Given the description of an element on the screen output the (x, y) to click on. 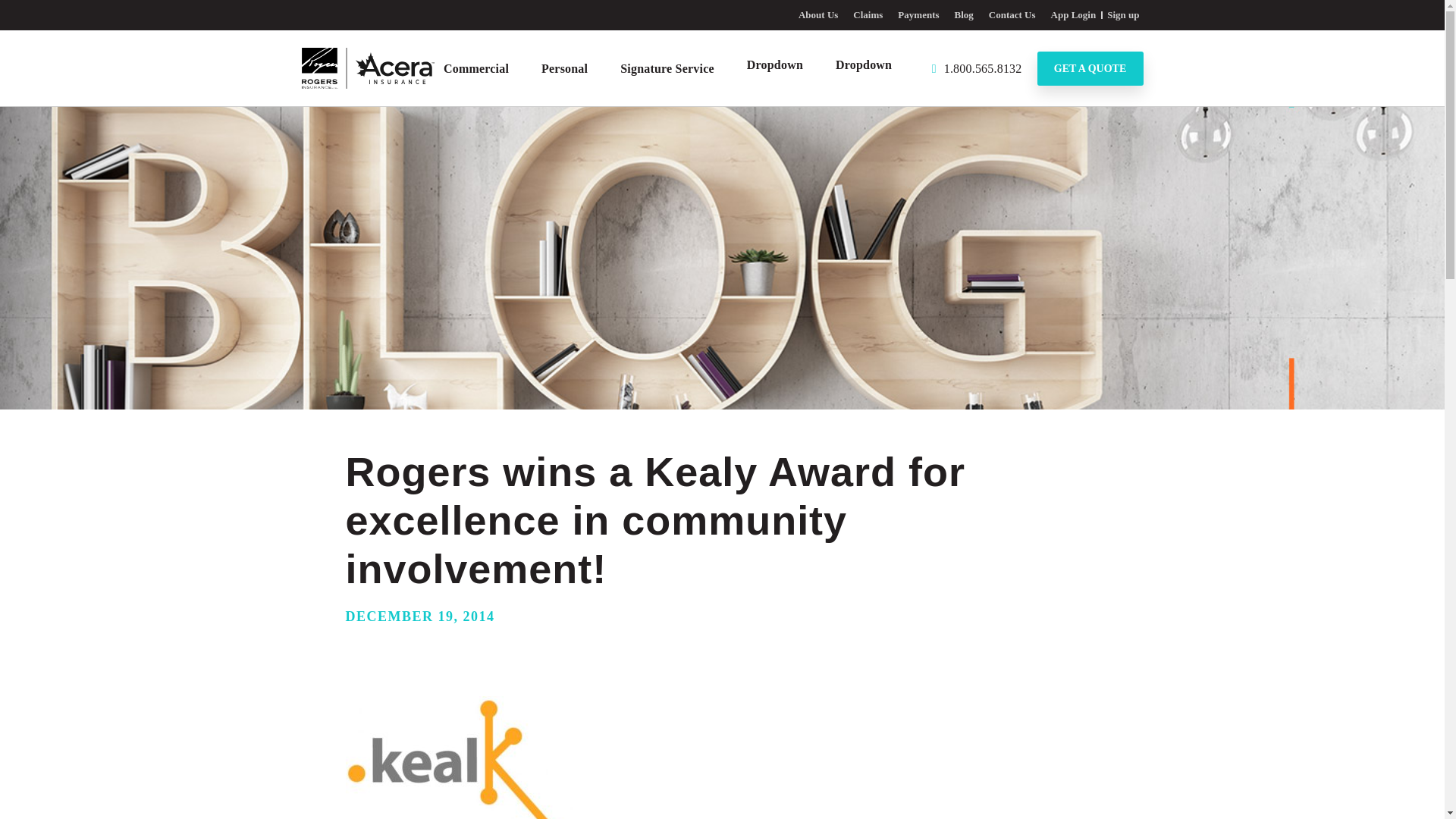
Claims (867, 14)
Commercial (476, 68)
App Login (1073, 14)
About Us (817, 14)
Contact Us (1011, 14)
Sign up (1122, 14)
Payments (918, 14)
